Given the description of an element on the screen output the (x, y) to click on. 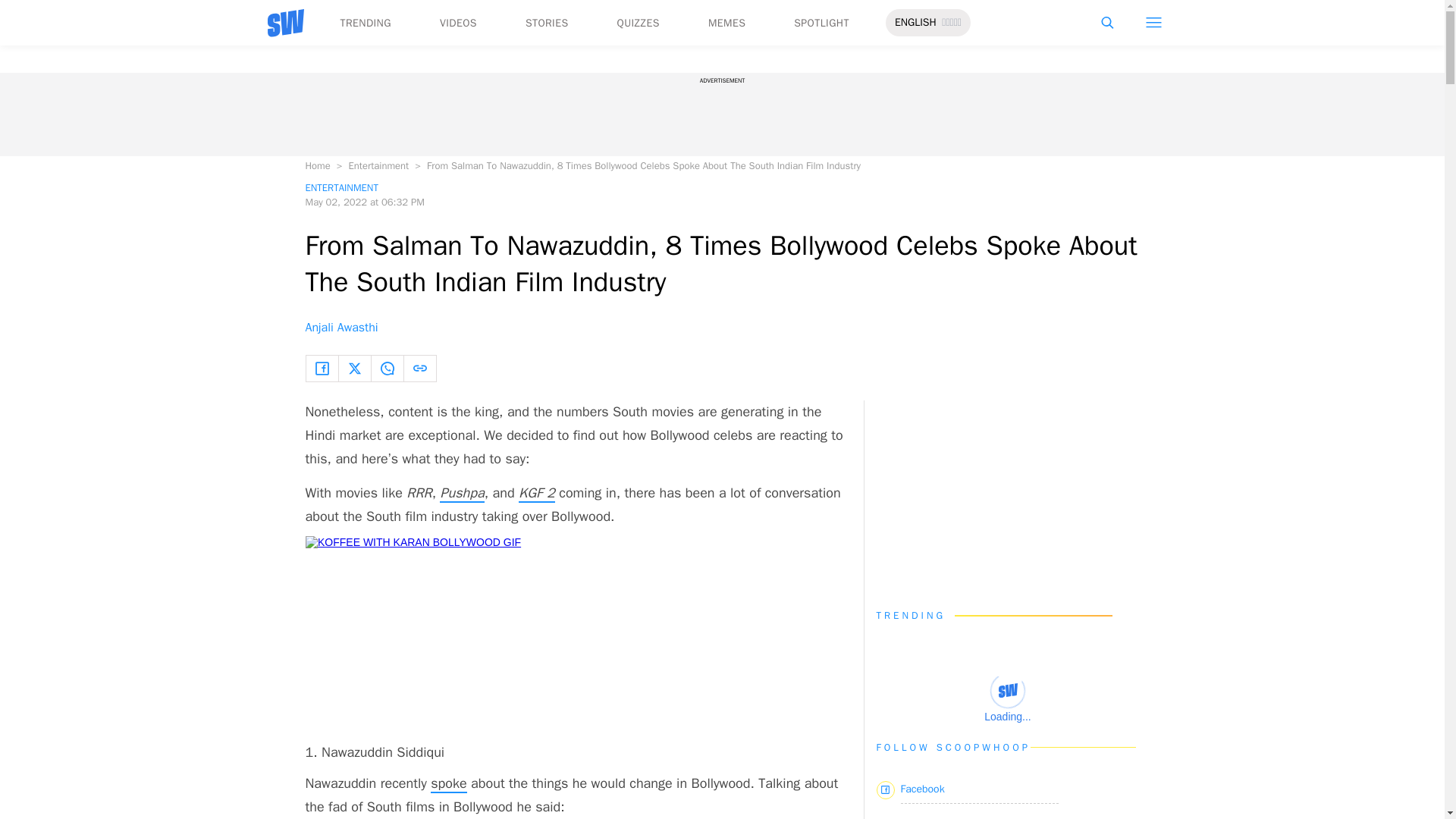
MEMES (726, 22)
ENGLISH (915, 22)
QUIZZES (638, 22)
SPOTLIGHT (820, 22)
TRENDING (364, 22)
STORIES (547, 22)
VIDEOS (458, 22)
